Given the description of an element on the screen output the (x, y) to click on. 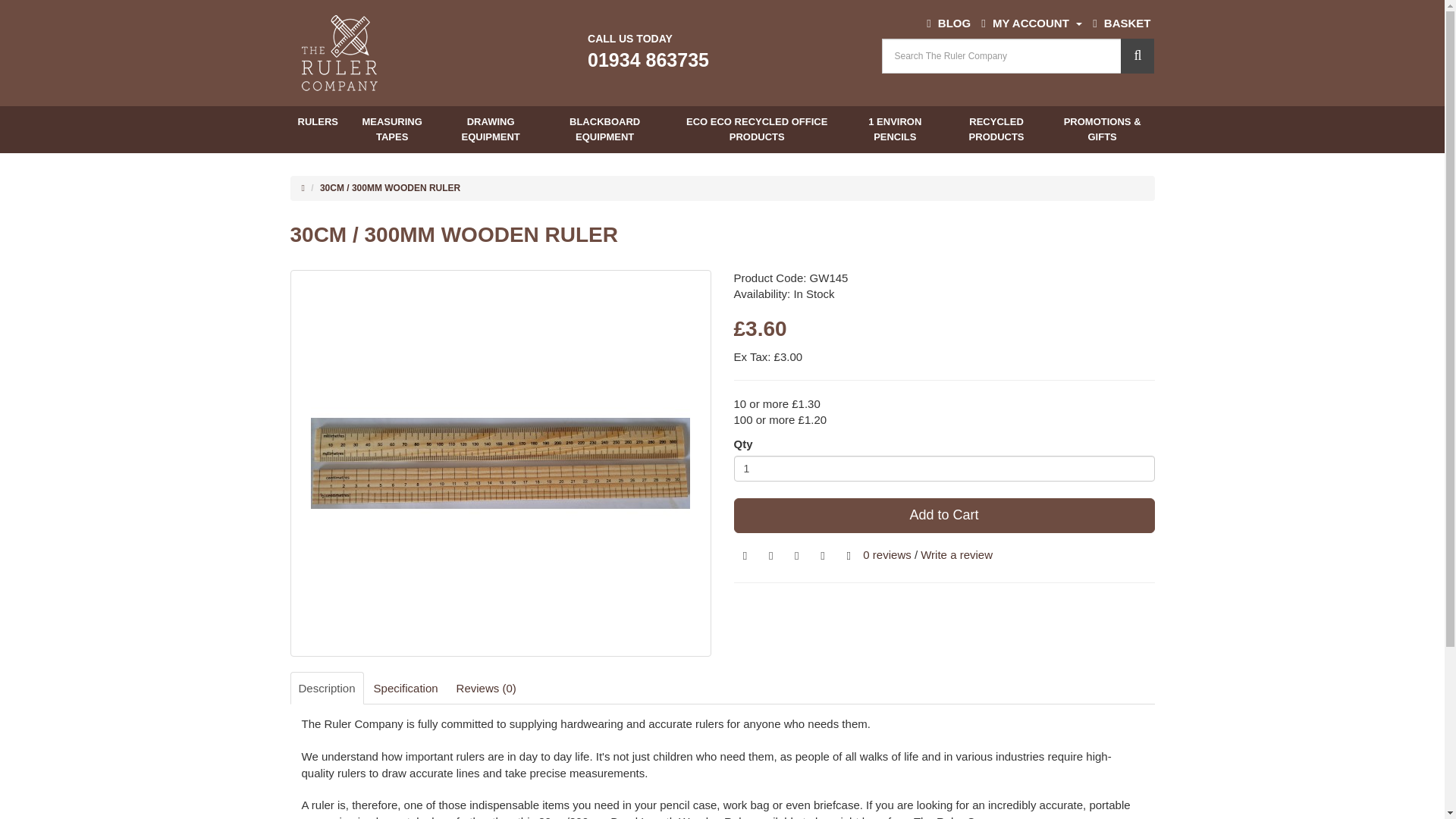
BLOG (948, 22)
Specification (405, 687)
RULERS (317, 122)
DRAWING EQUIPMENT (490, 129)
01934 863735 (648, 59)
Description (325, 687)
1 ENVIRON PENCILS (894, 129)
Add to Cart (943, 515)
The Ruler Company Ltd. (339, 52)
0 reviews (887, 554)
